Given the description of an element on the screen output the (x, y) to click on. 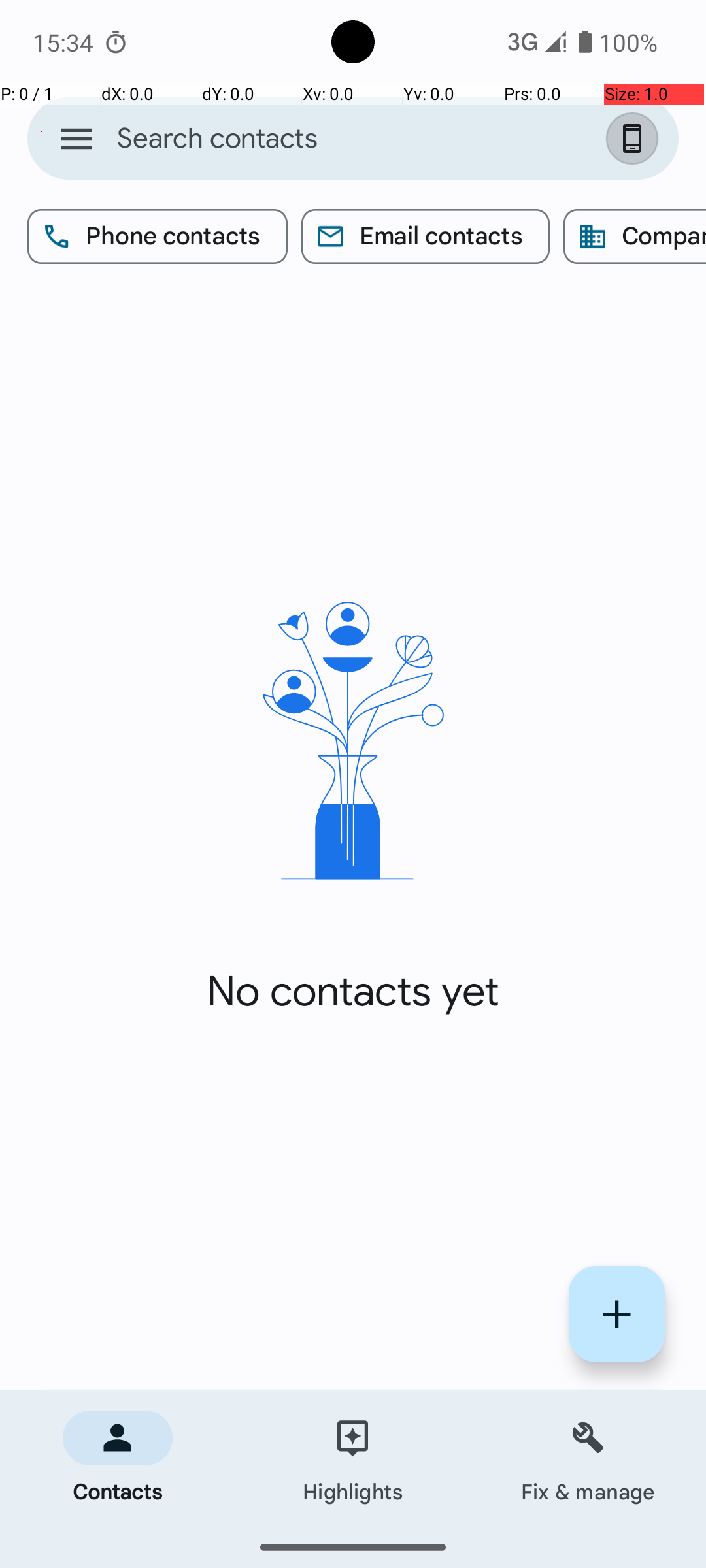
Create contact Element type: android.widget.ImageButton (616, 1314)
Contacts Element type: android.widget.FrameLayout (117, 1457)
Highlights Element type: android.widget.FrameLayout (352, 1457)
Fix & manage Element type: android.widget.FrameLayout (588, 1457)
Open navigation drawer Element type: android.widget.ImageButton (75, 138)
Signed in as Device
Account and settings. Element type: android.widget.FrameLayout (634, 138)
No contacts yet Element type: android.widget.TextView (353, 991)
Phone contacts Element type: android.widget.Button (157, 236)
Email contacts Element type: android.widget.Button (425, 236)
Company Element type: android.widget.Button (634, 236)
